Given the description of an element on the screen output the (x, y) to click on. 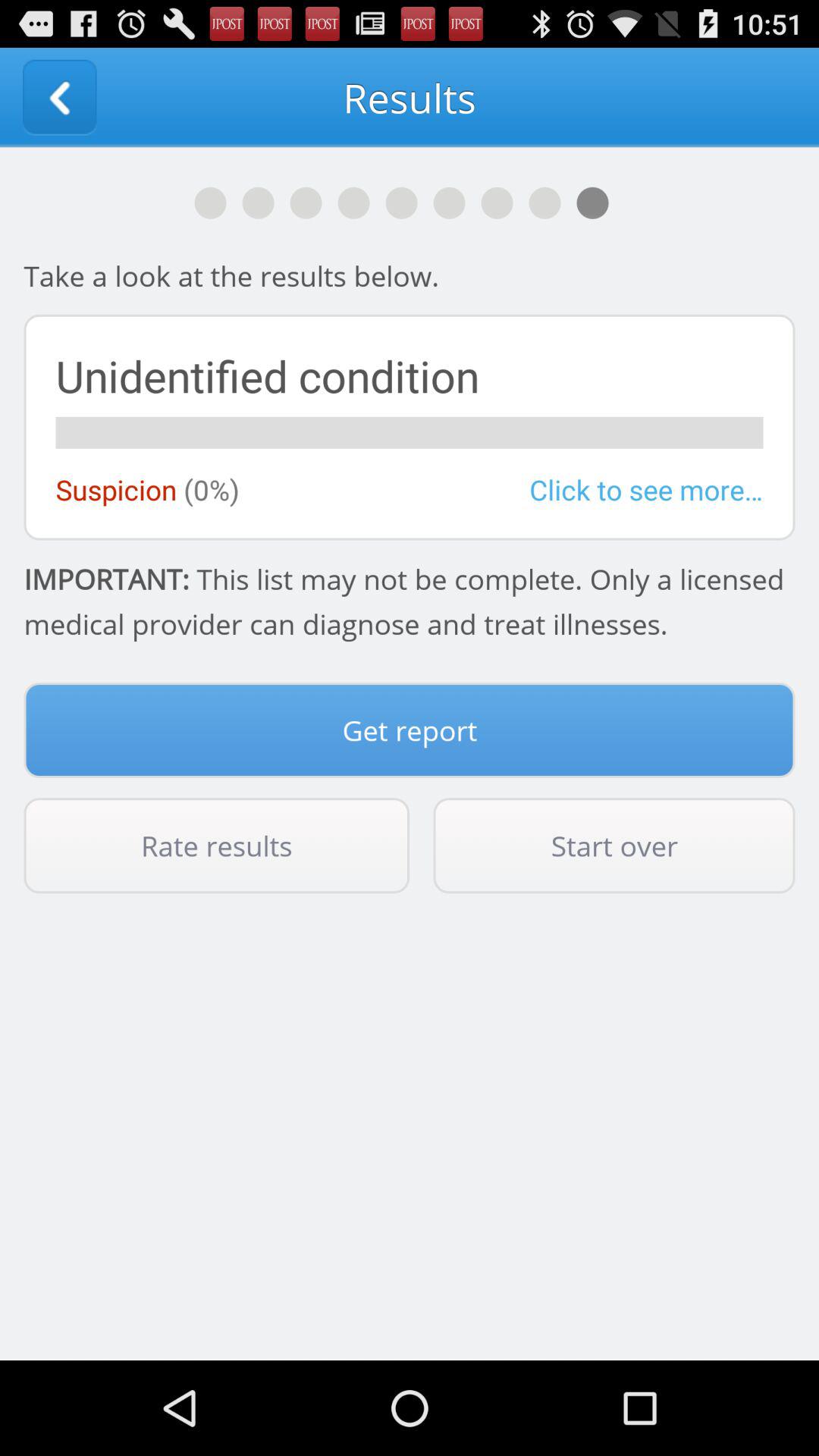
select button to the right of rate results (614, 845)
